Given the description of an element on the screen output the (x, y) to click on. 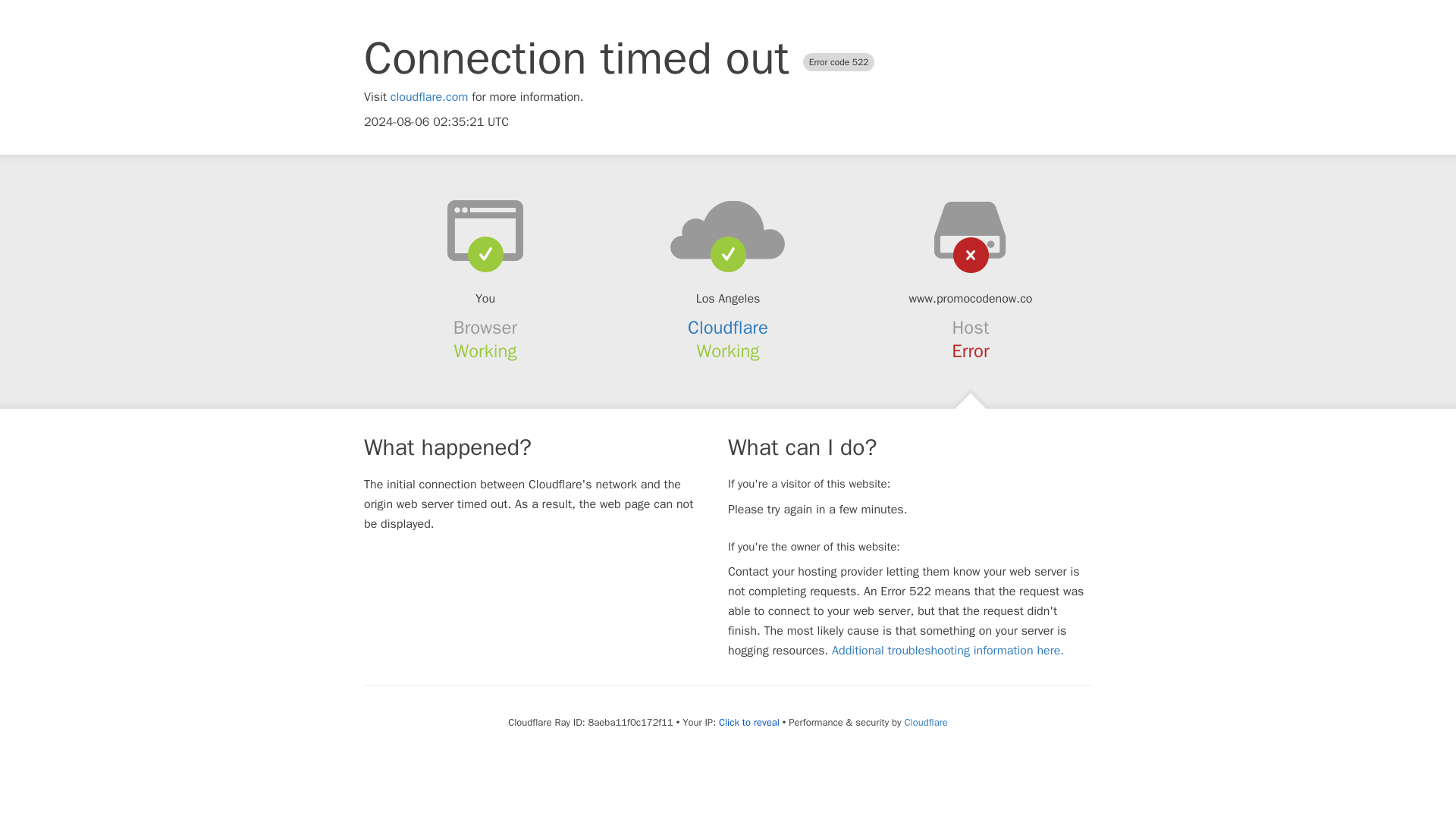
Additional troubleshooting information here. (947, 650)
cloudflare.com (429, 96)
Click to reveal (748, 722)
Cloudflare (727, 327)
Cloudflare (925, 721)
